Given the description of an element on the screen output the (x, y) to click on. 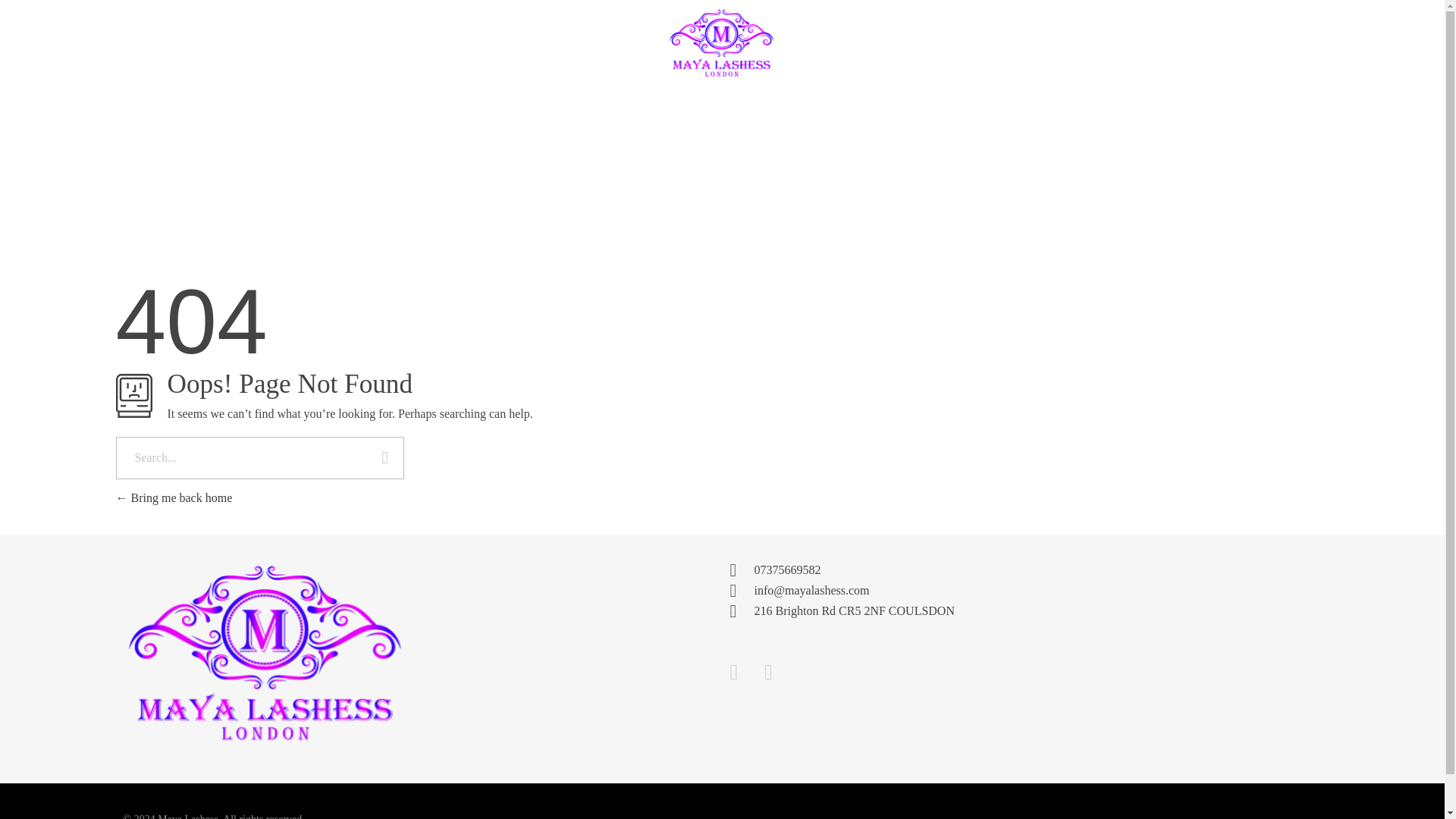
Maya Lashess (240, 654)
216 Brighton Rd CR5 2NF COULSDON (1176, 657)
Bring me back home (173, 497)
Maya Lashess (162, 756)
